Given the description of an element on the screen output the (x, y) to click on. 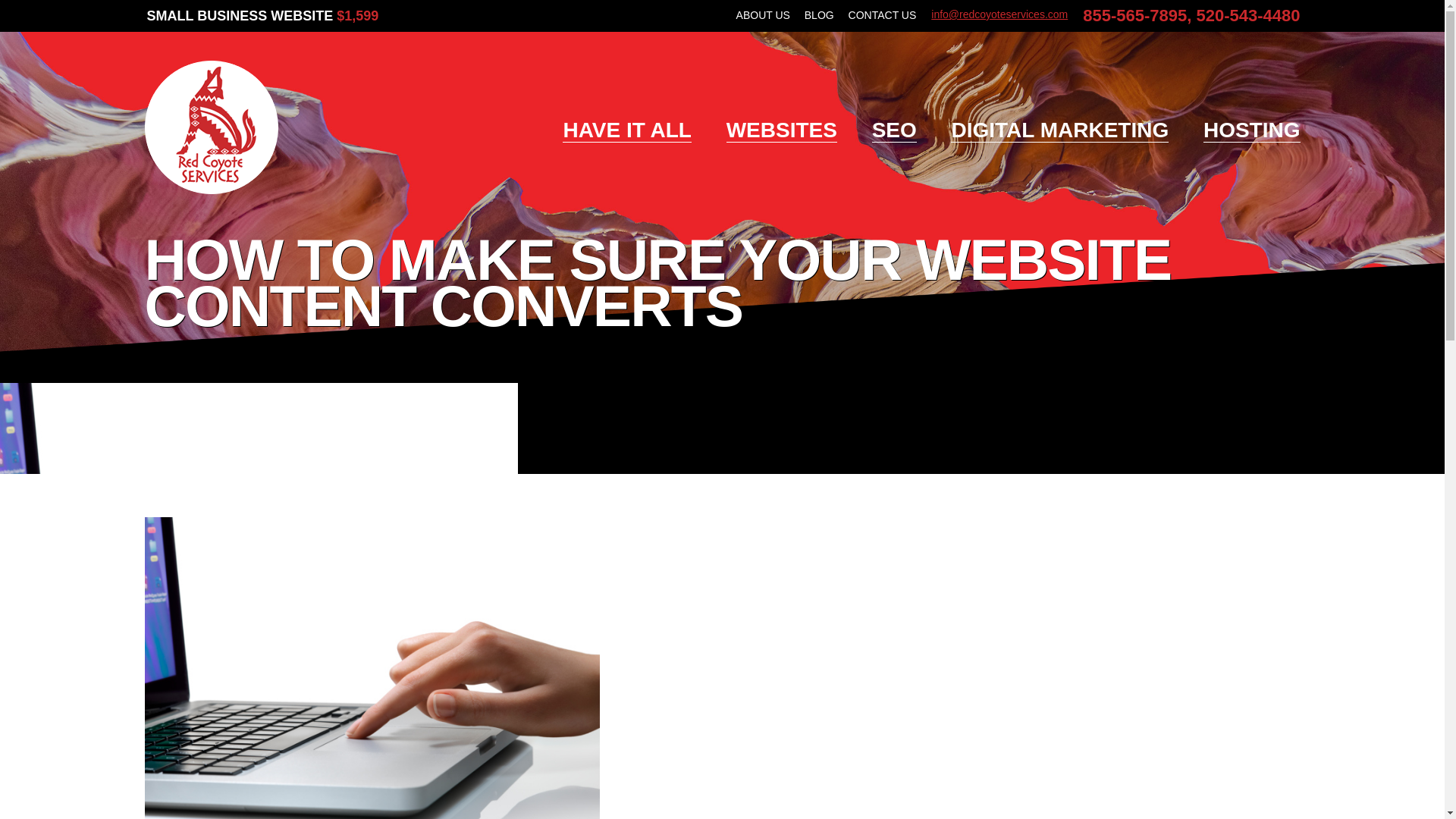
DIGITAL MARKETING (1059, 129)
HOSTING (1252, 129)
CONTACT US (882, 15)
WEBSITES (781, 129)
SEO (894, 129)
HAVE IT ALL (626, 129)
ABOUT US (763, 15)
BLOG (819, 15)
